Given the description of an element on the screen output the (x, y) to click on. 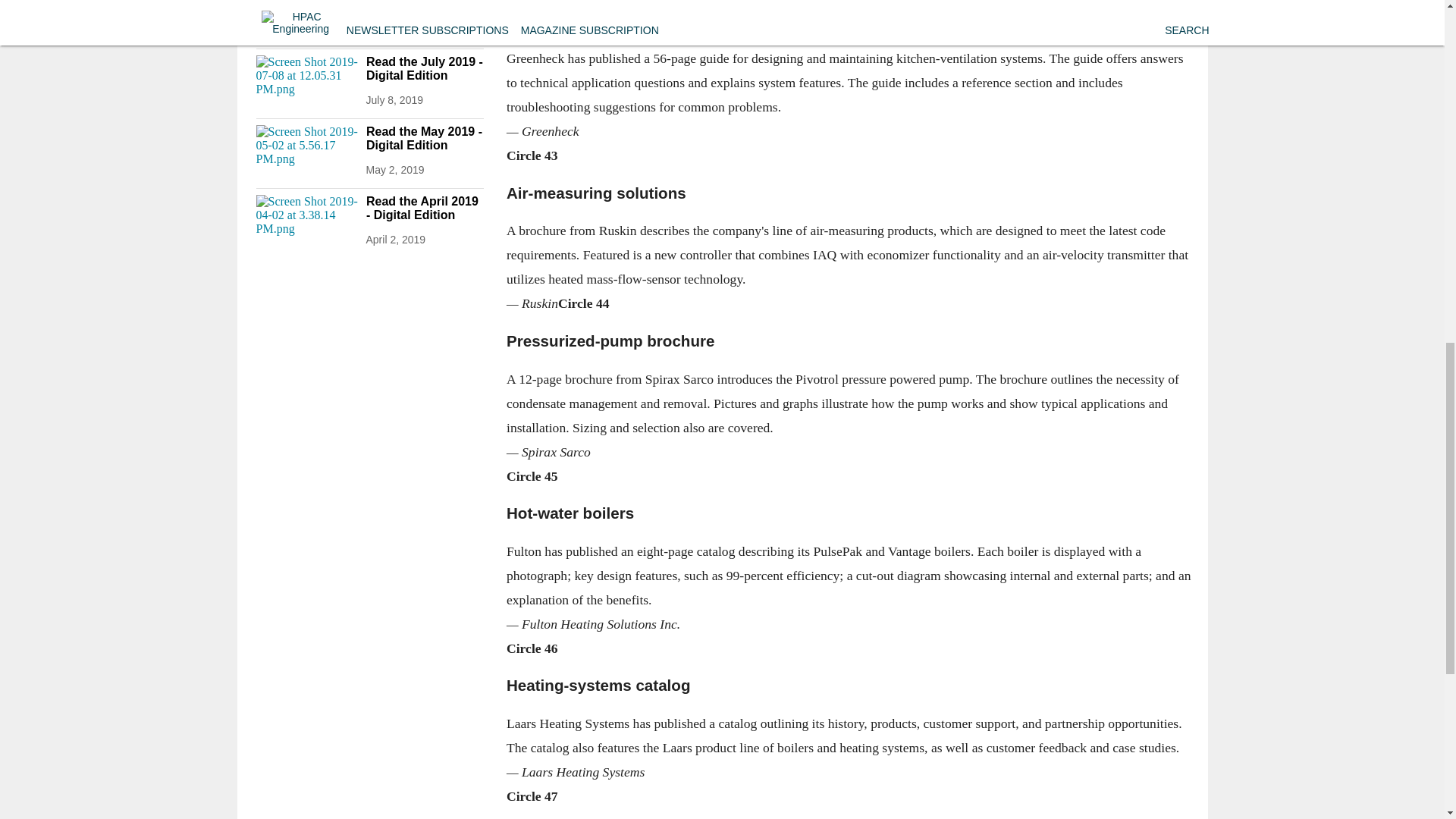
Read the May 2019 - Digital Edition (424, 138)
Screen Shot 2019-07-08 at 12.05.31 PM.png (307, 83)
Read the April 2019 - Digital Edition (424, 207)
Screen Shot 2019-08-01 at 10.50.46 AM.png (307, 17)
Screen Shot 2019-05-02 at 5.56.17 PM.png (307, 153)
Read the July 2019 - Digital Edition (424, 68)
Read the August 2019 - Digital Edition (424, 9)
Screen Shot 2019-04-02 at 3.38.14 PM.png (307, 222)
